Given the description of an element on the screen output the (x, y) to click on. 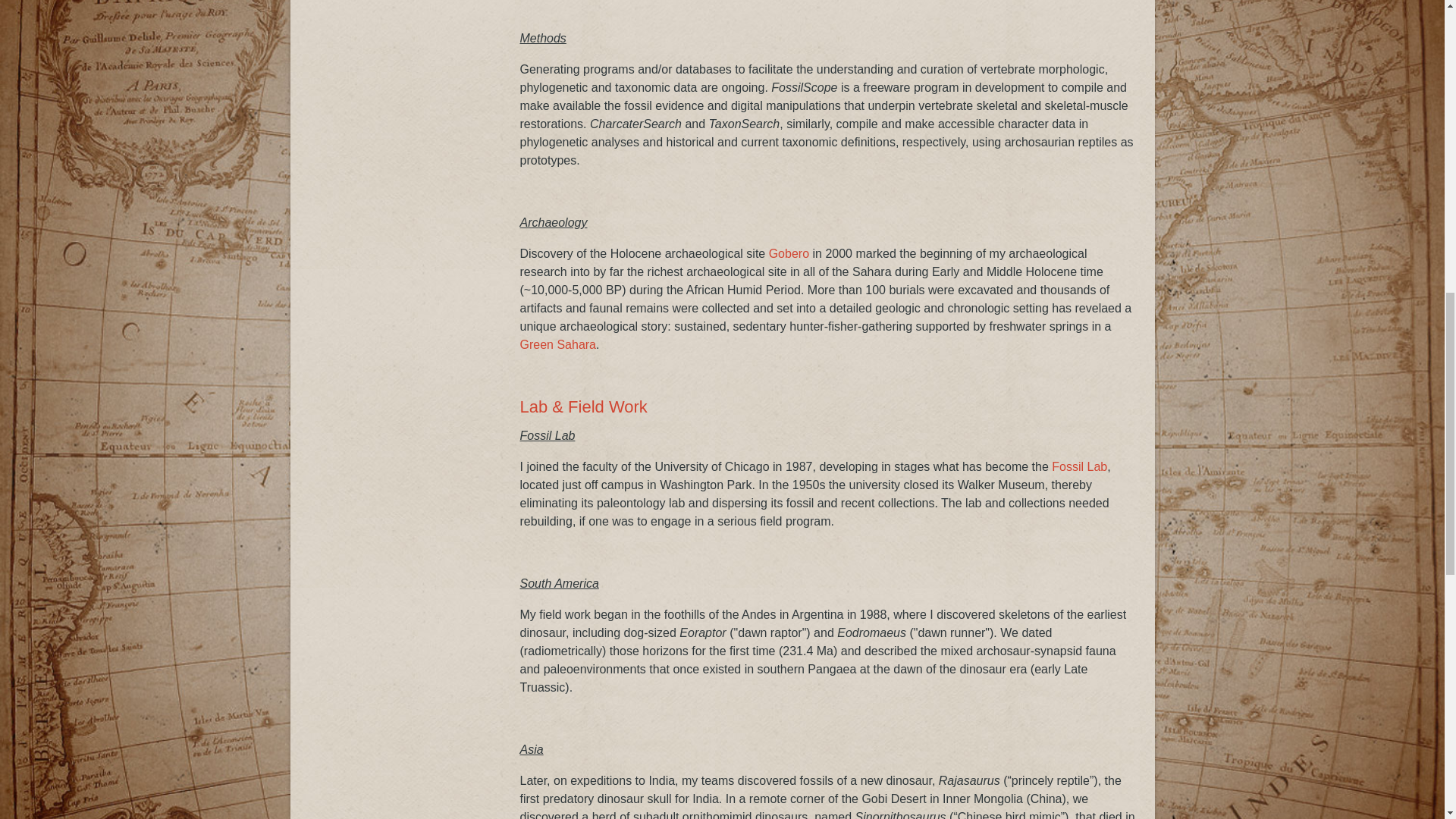
Gobero (788, 253)
Green Sahara (557, 344)
Fossil Lab (1078, 466)
